Given the description of an element on the screen output the (x, y) to click on. 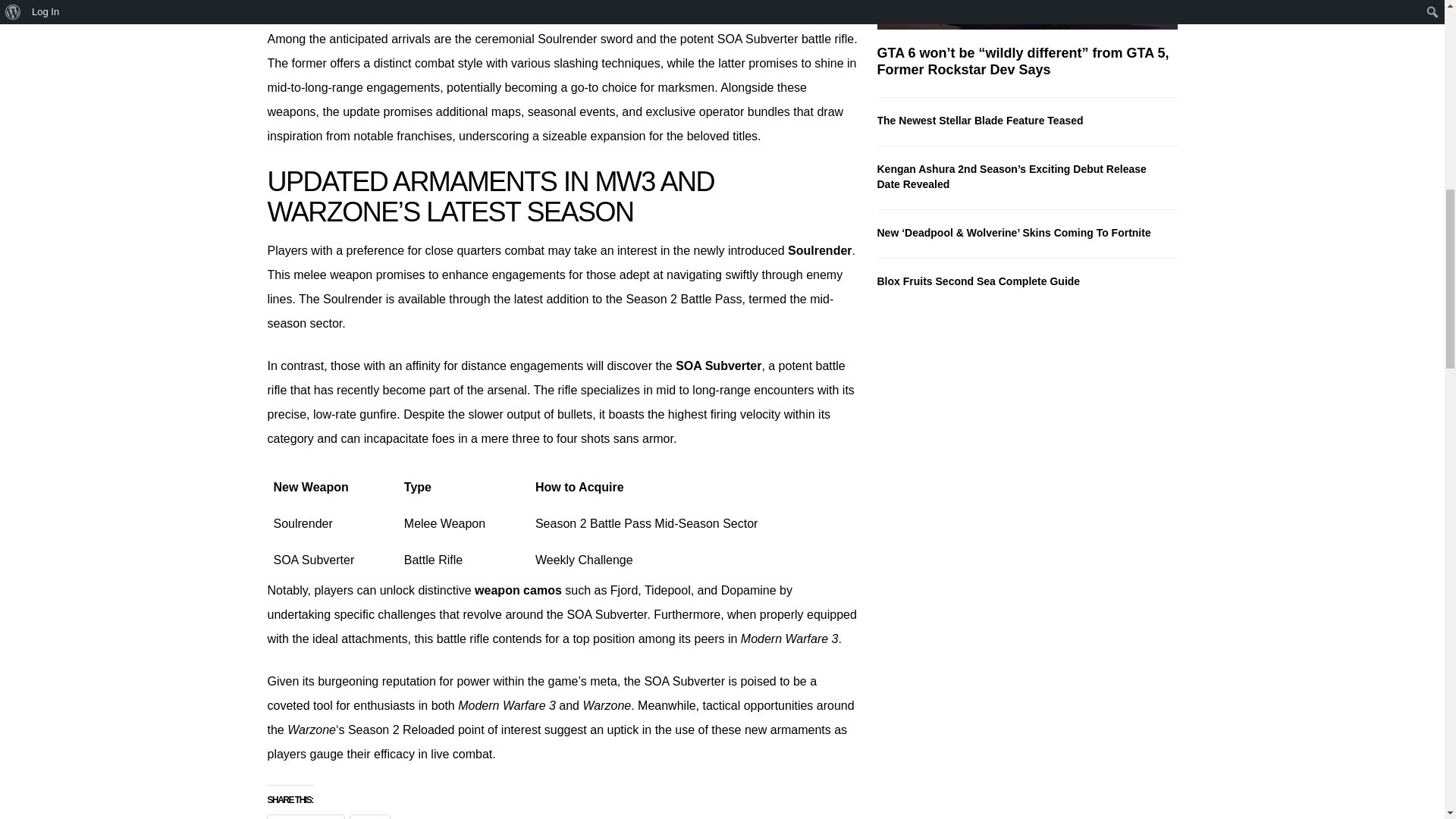
X (370, 816)
Facebook (304, 816)
Click to share on Facebook (304, 816)
Click to share on X (370, 816)
